Given the description of an element on the screen output the (x, y) to click on. 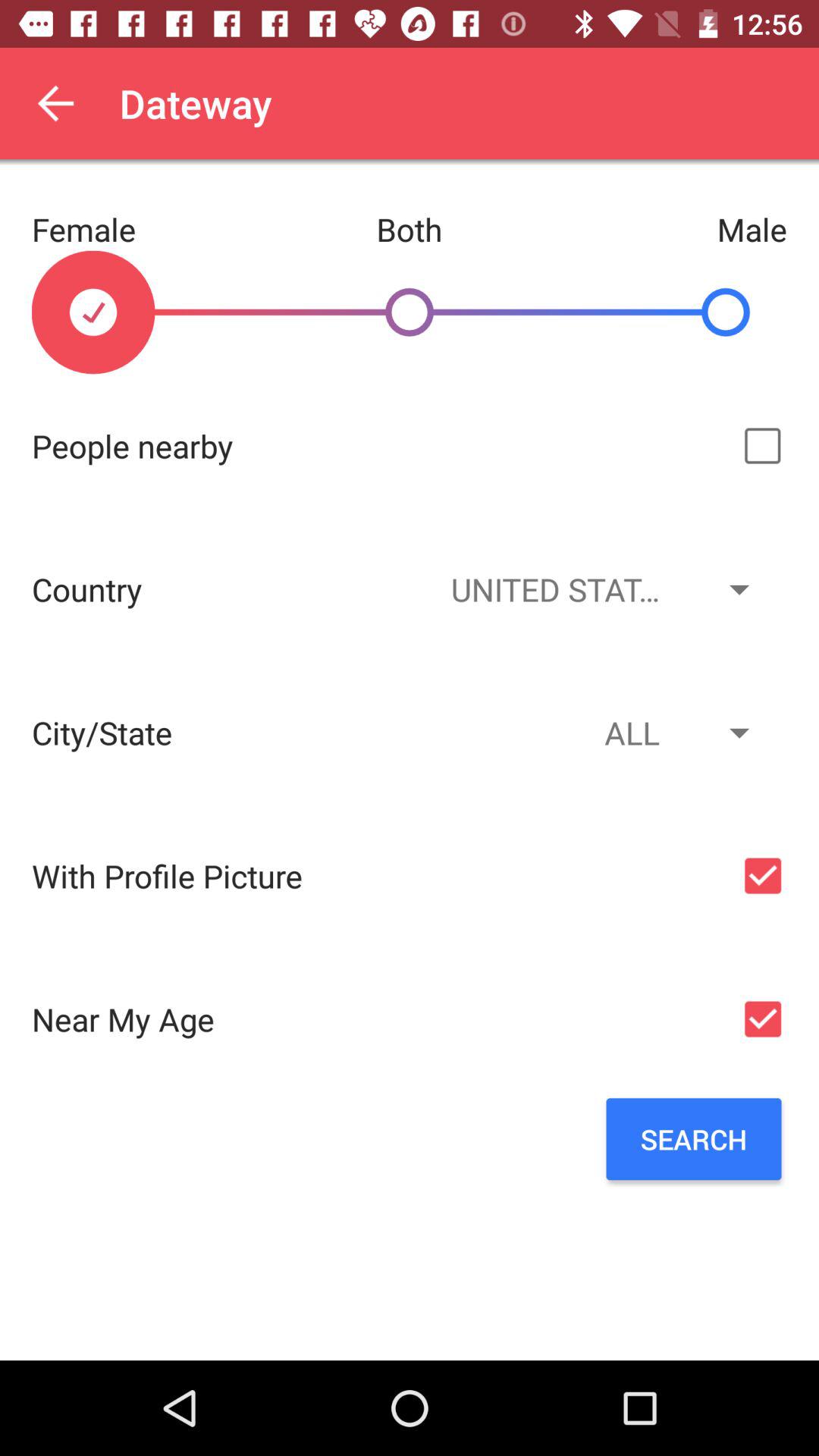
select with profile picture (762, 875)
